Given the description of an element on the screen output the (x, y) to click on. 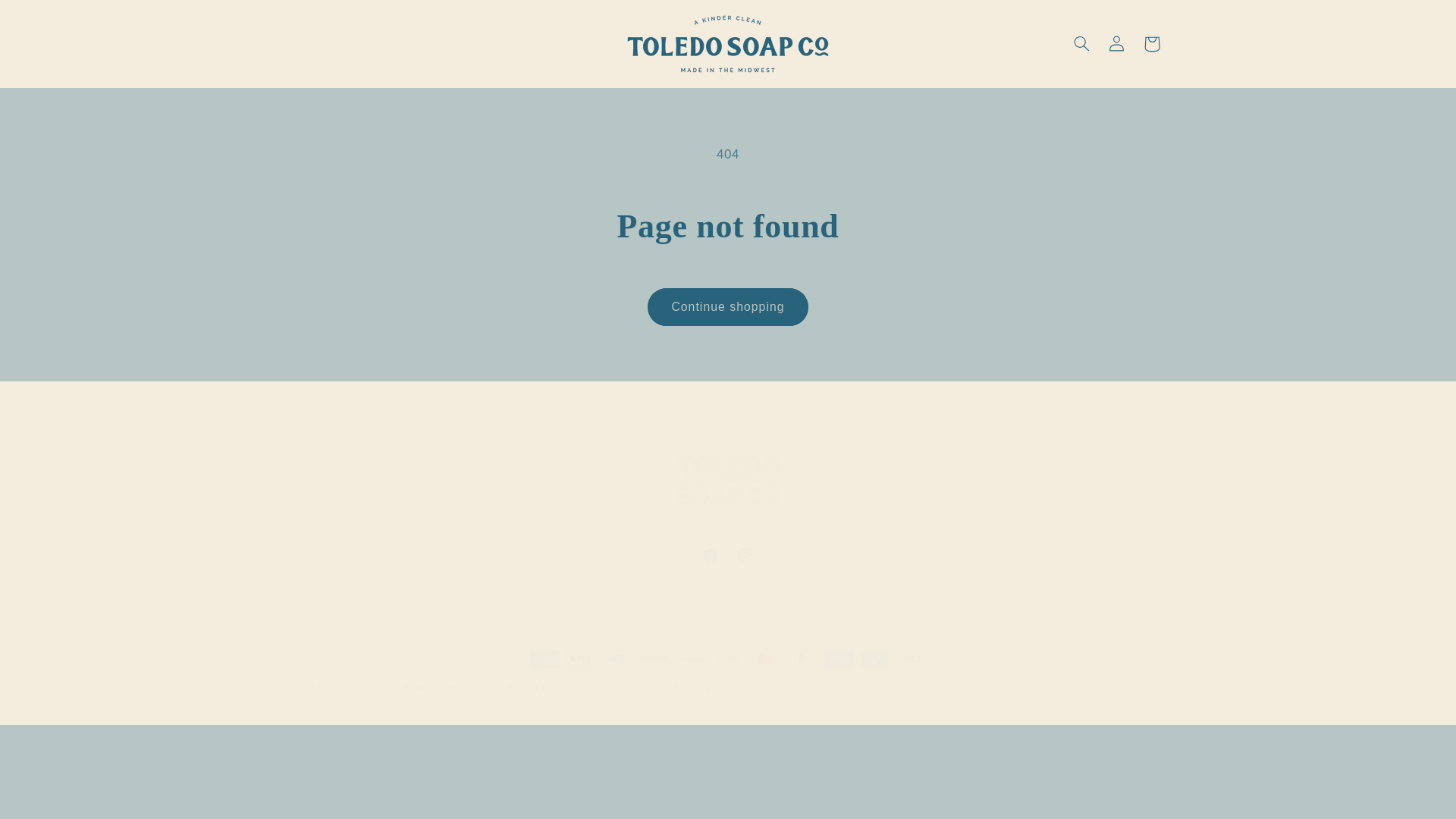
Toledo Soap Co. (365, 686)
Powered by Shopify (447, 686)
Facebook (710, 555)
Contact information (798, 687)
Instagram (745, 555)
Log in (1116, 43)
Refund policy (536, 687)
Skip to content (48, 18)
Terms of service (727, 555)
